Given the description of an element on the screen output the (x, y) to click on. 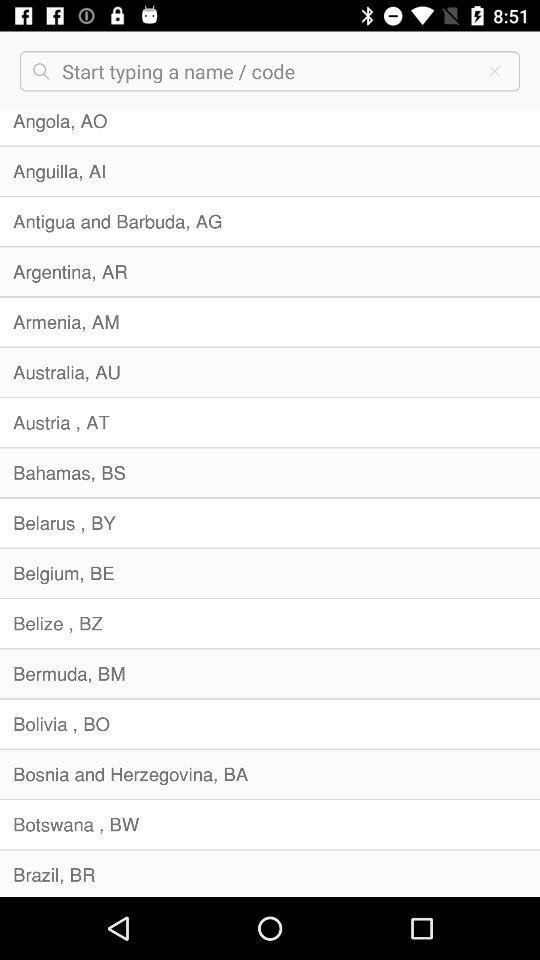
tap belgium, be item (270, 572)
